Given the description of an element on the screen output the (x, y) to click on. 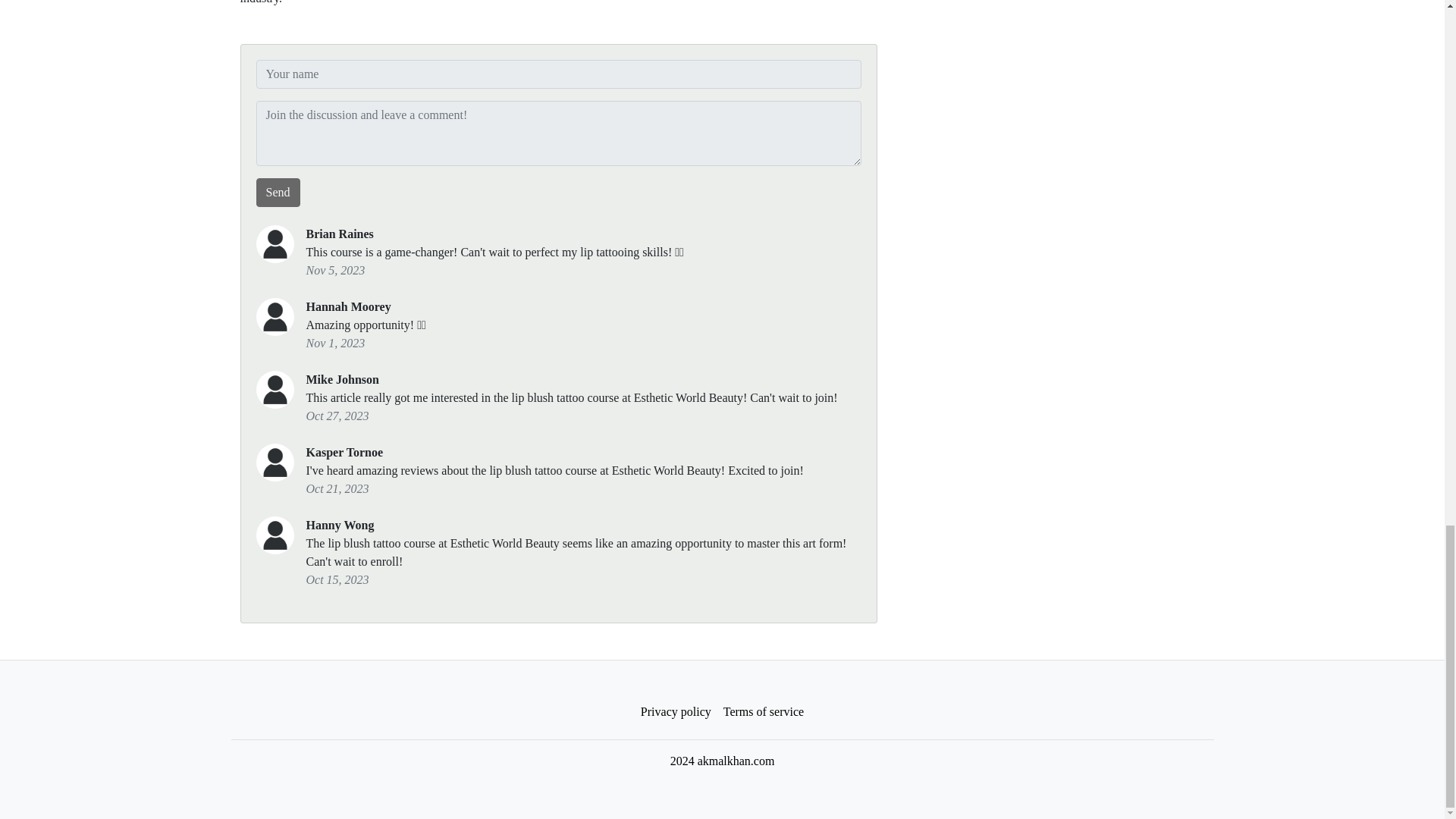
Privacy policy (675, 711)
Send (277, 192)
Terms of service (763, 711)
Send (277, 192)
